Given the description of an element on the screen output the (x, y) to click on. 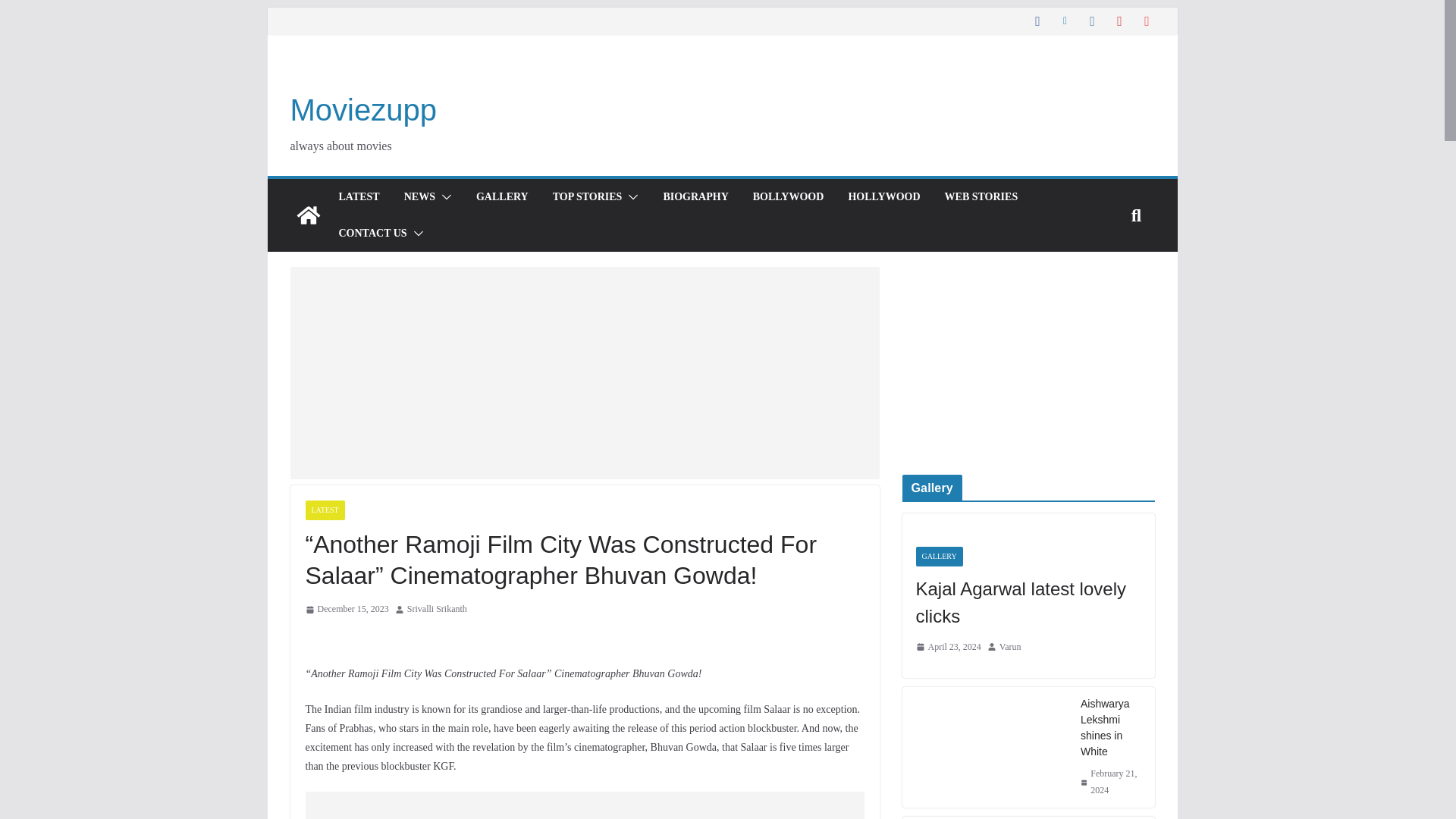
CONTACT US (371, 233)
Moviezupp (362, 109)
Advertisement (584, 372)
5:01 PM (346, 609)
NEWS (419, 197)
December 15, 2023 (346, 609)
TOP STORIES (588, 197)
Advertisement (583, 805)
Srivalli Srikanth (437, 609)
BIOGRAPHY (695, 197)
Srivalli Srikanth (437, 609)
HOLLYWOOD (883, 197)
GALLERY (502, 197)
LATEST (323, 510)
